Given the description of an element on the screen output the (x, y) to click on. 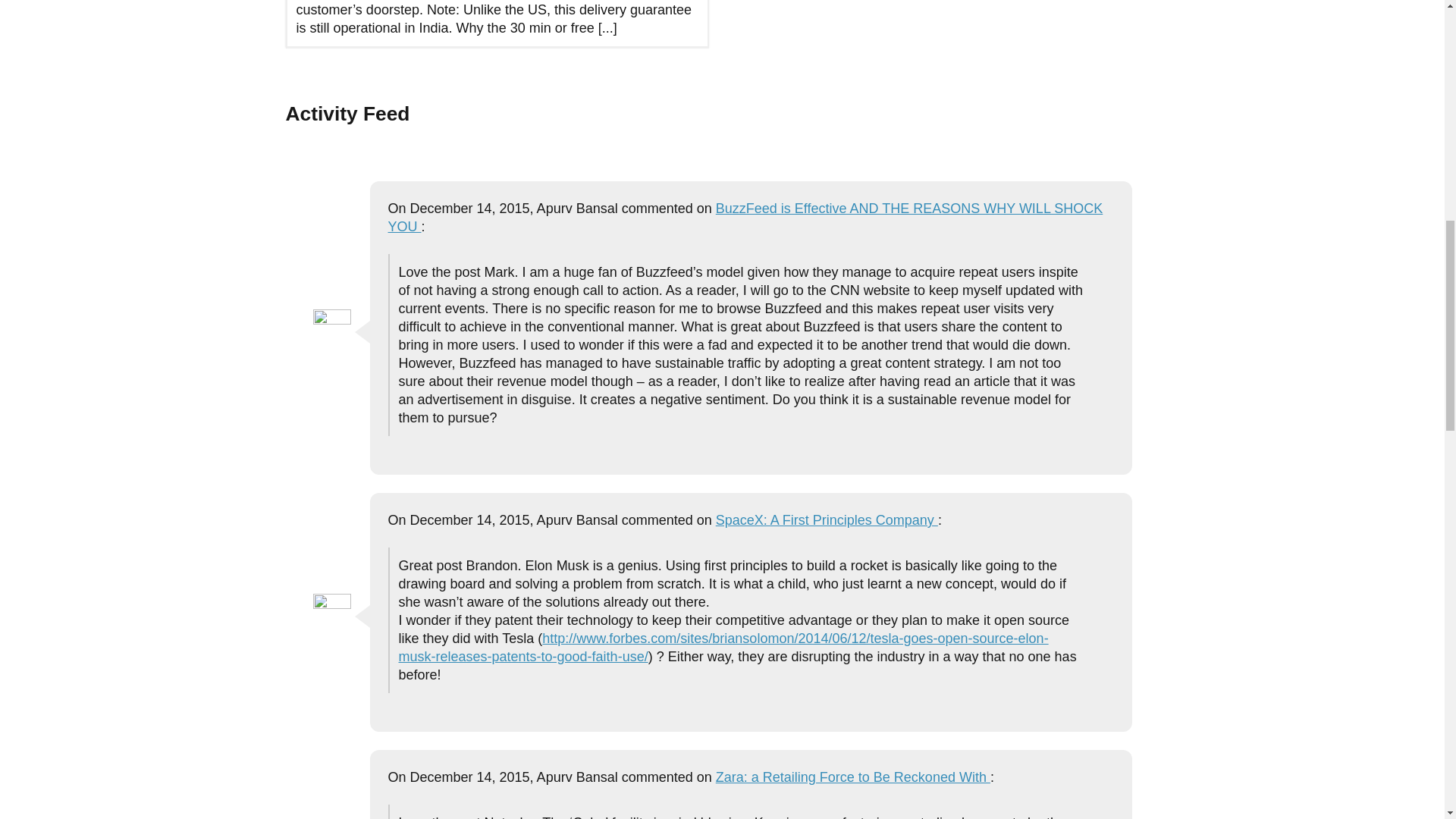
SpaceX: A First Principles Company (826, 519)
Zara: a Retailing Force to Be Reckoned With (853, 776)
BuzzFeed is Effective AND THE REASONS WHY WILL SHOCK YOU (745, 217)
